Given the description of an element on the screen output the (x, y) to click on. 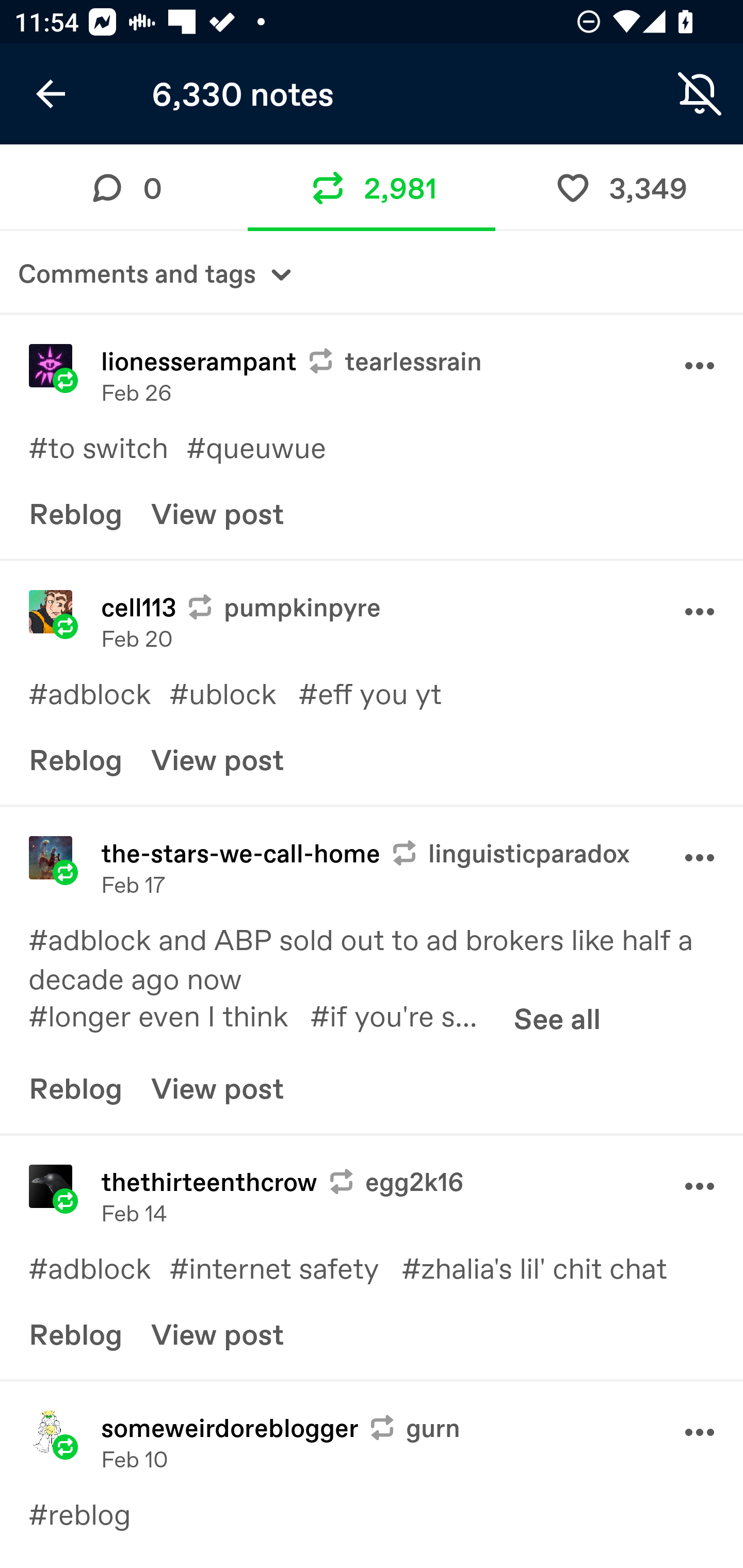
Navigate up (50, 93)
conversational notifications (699, 93)
Replies 0 (123, 187)
Likes 3,349 (619, 187)
Comments and tags (371, 272)
More options (699, 366)
lionesserampant (50, 365)
lionesserampant (199, 360)
tearlessrain (394, 360)
#to switch (107, 446)
#queuwue (270, 446)
Reblog (75, 512)
View post (217, 512)
More options (699, 611)
cell113 (50, 611)
cell113 (138, 606)
pumpkinpyre (282, 606)
#adblock (98, 692)
#ublock (233, 692)
#eff you yt (383, 692)
Reblog (75, 758)
View post (217, 758)
More options (699, 857)
the-stars-we-call-home (50, 857)
the-stars-we-call-home (240, 852)
linguisticparadox (510, 852)
#longer even I think (168, 1015)
#if you're s… (404, 1015)
See all (557, 1018)
Reblog (75, 1088)
View post (217, 1088)
More options (699, 1186)
thethirteenthcrow (50, 1186)
thethirteenthcrow (209, 1181)
egg2k16 (394, 1181)
#adblock (98, 1266)
#internet safety (285, 1266)
#zhalia's lil' chit chat (548, 1266)
Reblog (75, 1333)
View post (217, 1333)
More options (699, 1432)
someweirdoreblogger (50, 1432)
someweirdoreblogger (229, 1427)
gurn (413, 1427)
#reblog (88, 1512)
